Given the description of an element on the screen output the (x, y) to click on. 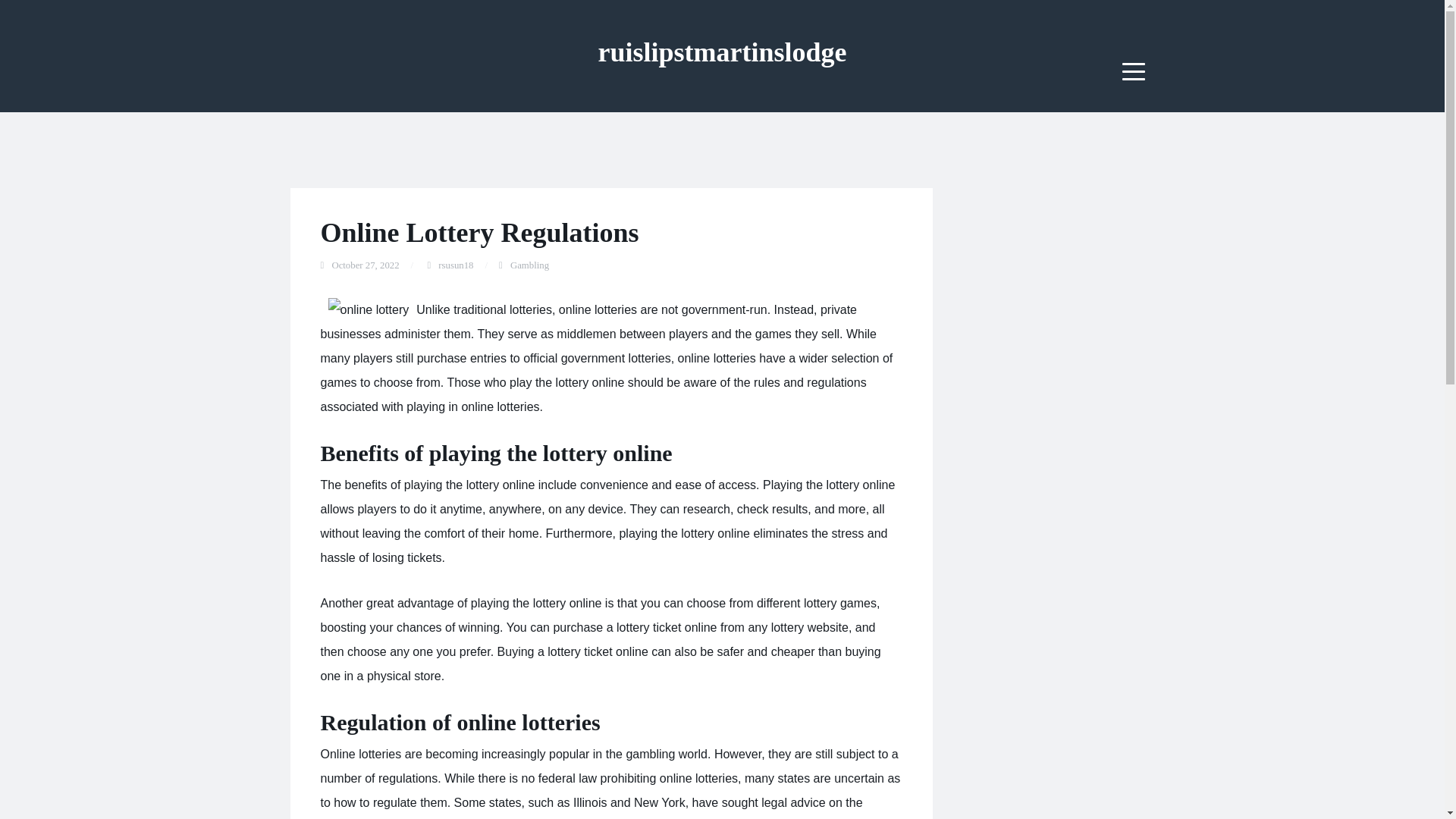
Gambling (529, 265)
Menu (1133, 71)
rsusun18 (455, 265)
October 27, 2022 (364, 265)
ruislipstmartinslodge (720, 51)
